Given the description of an element on the screen output the (x, y) to click on. 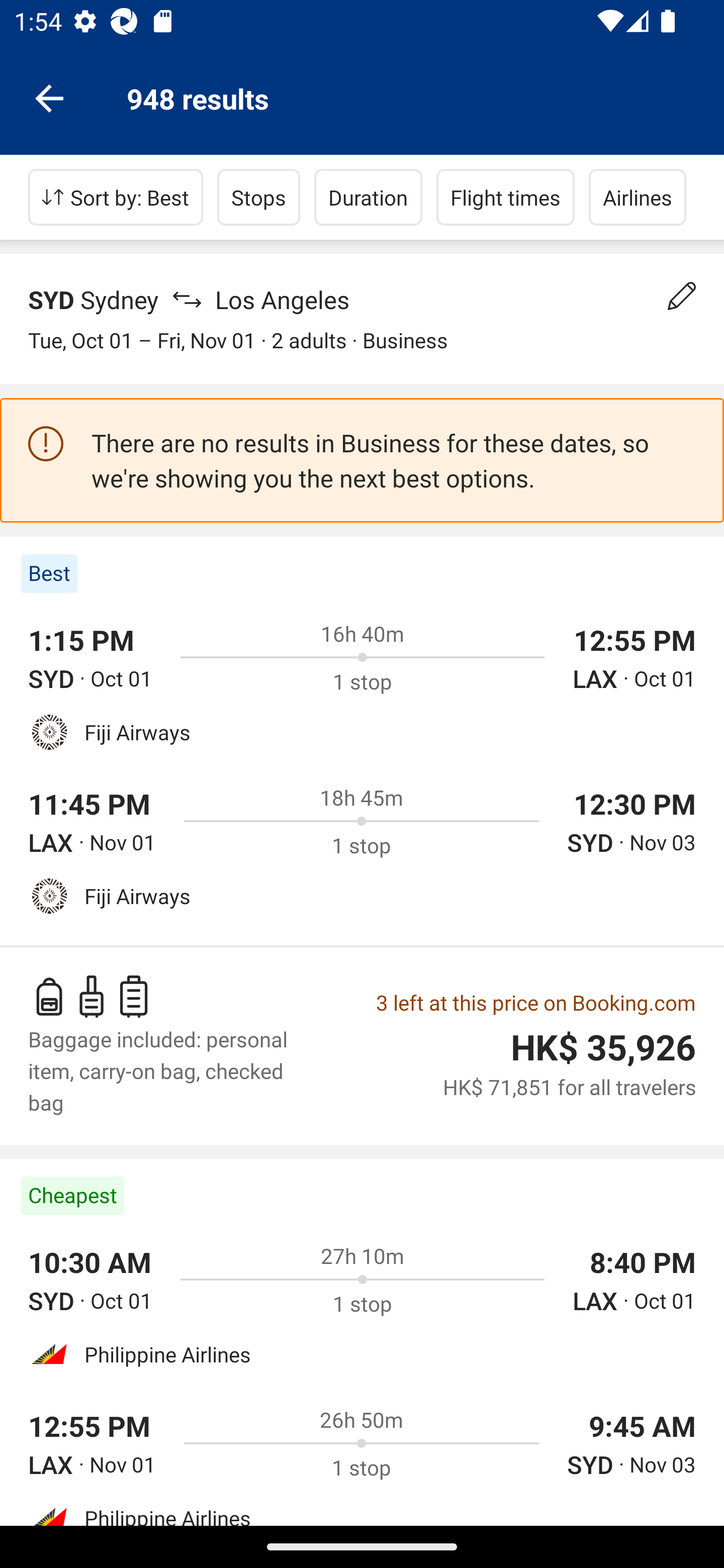
Navigate up (49, 97)
Sort by: Best (115, 197)
Stops (258, 197)
Duration (368, 197)
Flight times (505, 197)
Airlines (637, 197)
Change your search details (681, 296)
HK$ 35,926 (603, 1047)
